Given the description of an element on the screen output the (x, y) to click on. 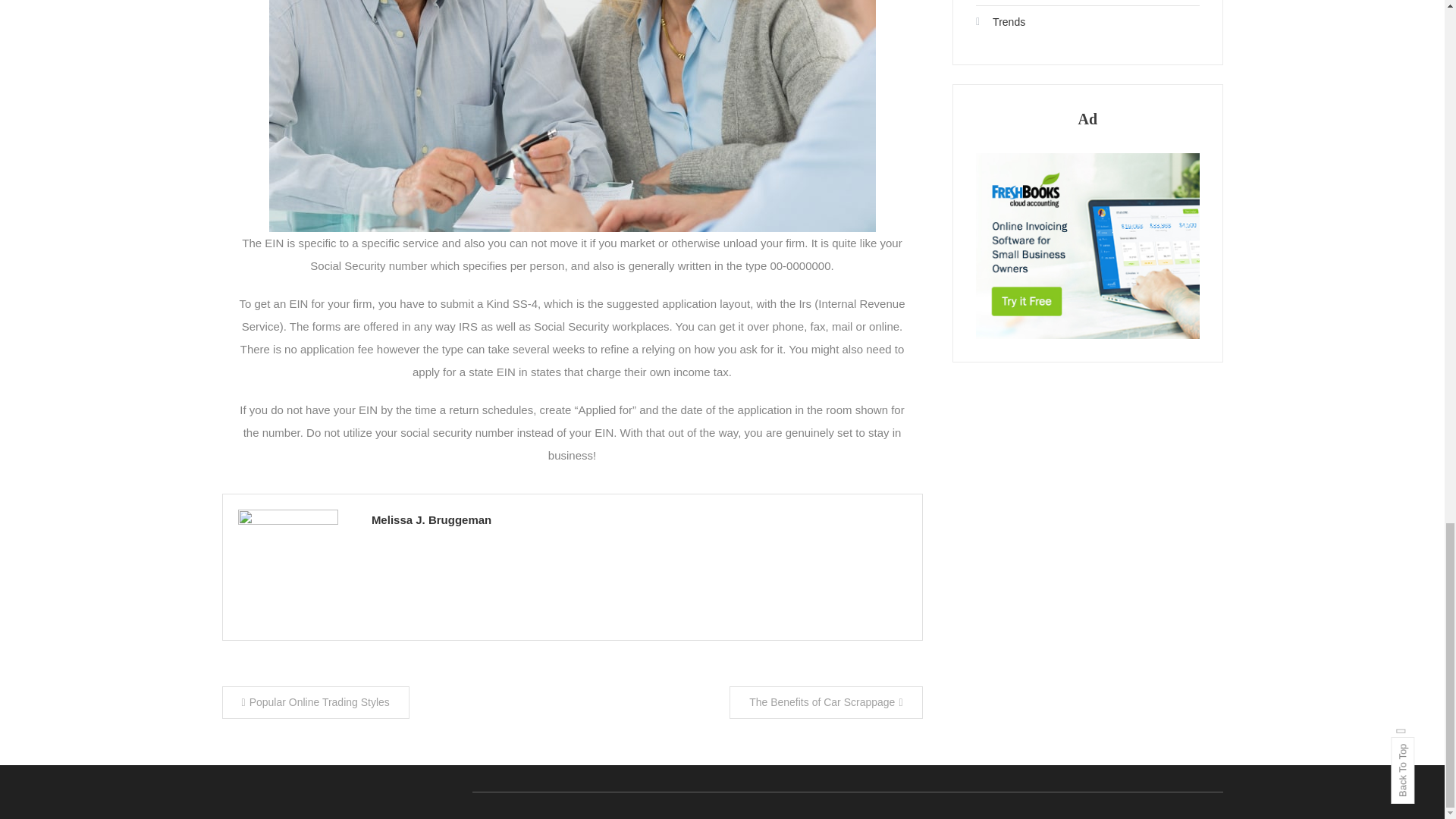
Popular Online Trading Styles (315, 702)
Melissa J. Bruggeman (639, 519)
The Benefits of Car Scrappage (825, 702)
